Given the description of an element on the screen output the (x, y) to click on. 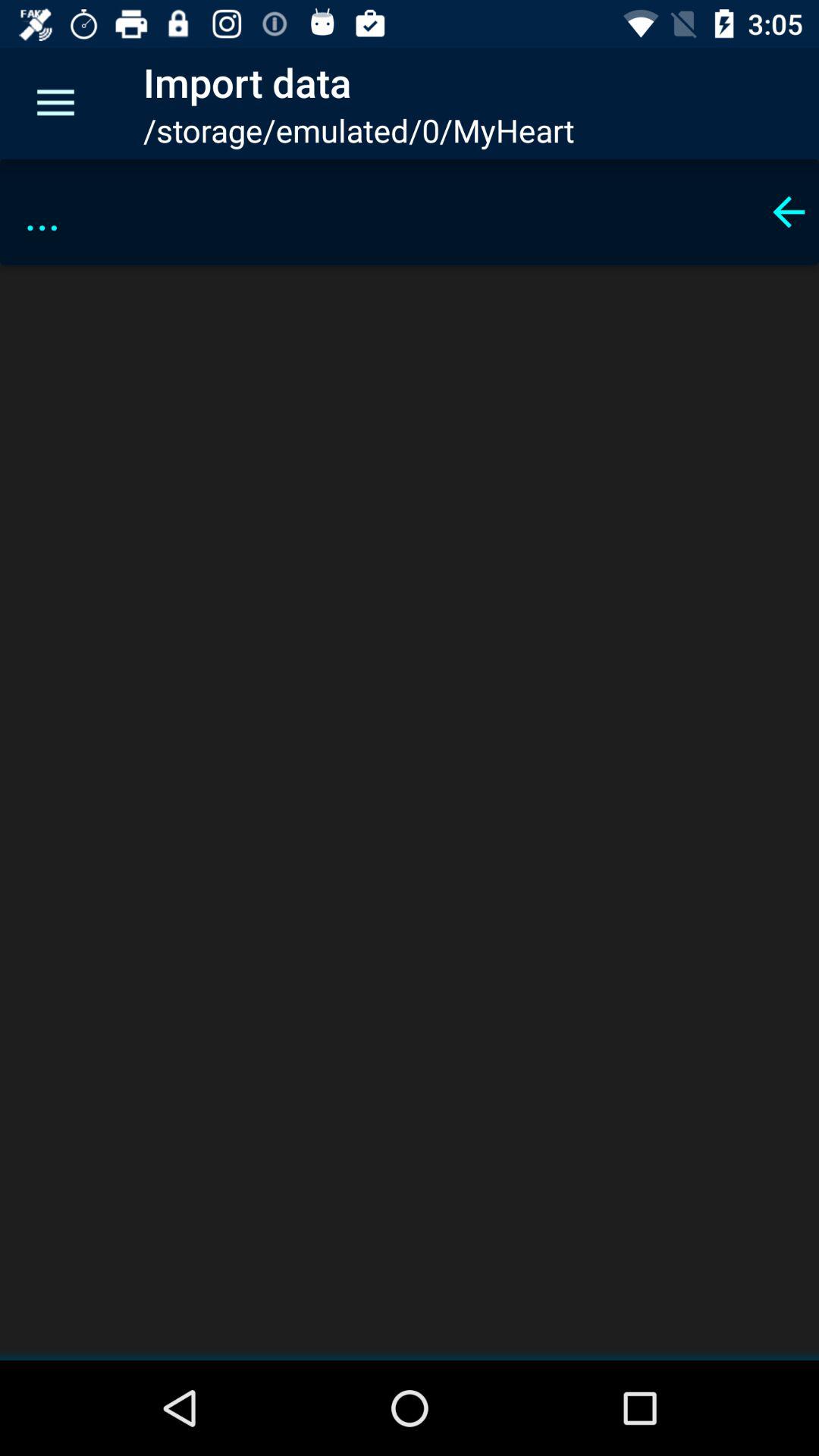
open the icon at the top right corner (788, 212)
